Given the description of an element on the screen output the (x, y) to click on. 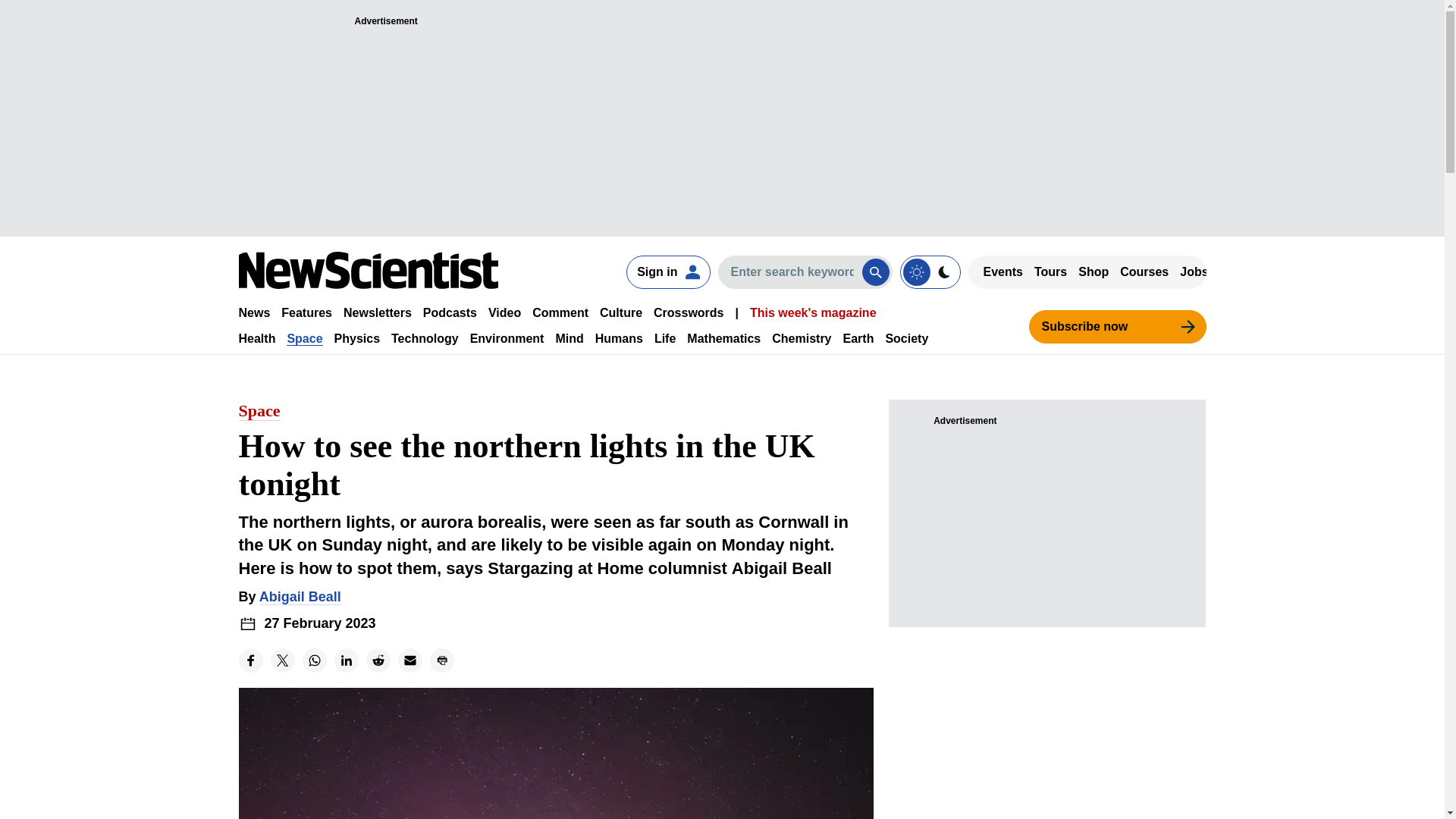
Earth (859, 338)
Mathematics (723, 338)
Sign In page link (668, 272)
Sign in (668, 272)
Society (906, 338)
Shop (1093, 272)
Physics (357, 338)
Calendar icon (247, 623)
Link to the homepage (367, 270)
Chemistry (801, 338)
